Given the description of an element on the screen output the (x, y) to click on. 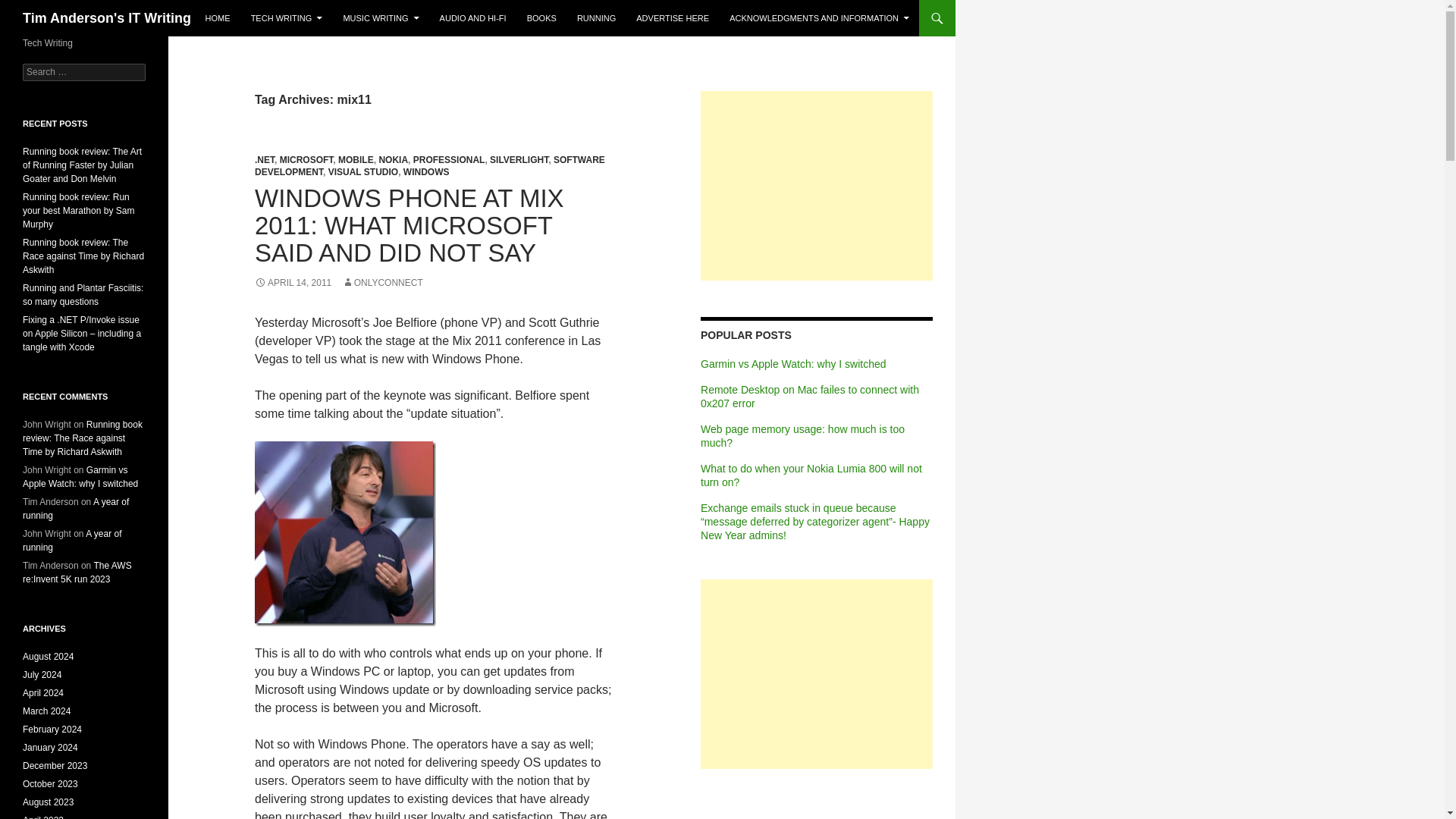
MOBILE (355, 159)
Advertisement (816, 185)
Tim Anderson's IT Writing (106, 18)
ONLYCONNECT (382, 282)
SOFTWARE DEVELOPMENT (429, 165)
PROFESSIONAL (448, 159)
MICROSOFT (306, 159)
SILVERLIGHT (518, 159)
WINDOWS (426, 172)
MUSIC WRITING (380, 18)
